Given the description of an element on the screen output the (x, y) to click on. 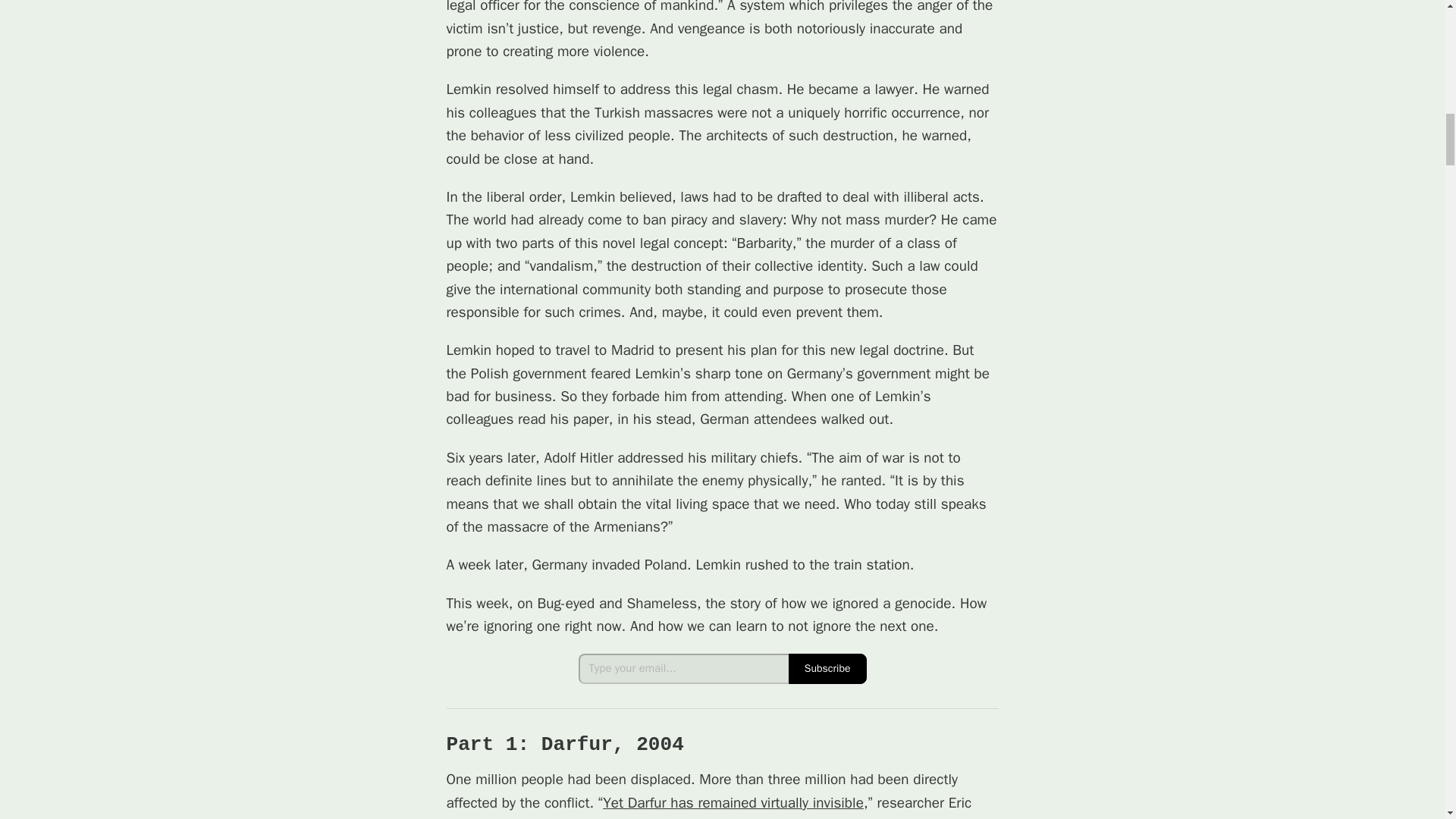
Subscribe (827, 668)
Yet Darfur has remained virtually invisible (732, 802)
